Given the description of an element on the screen output the (x, y) to click on. 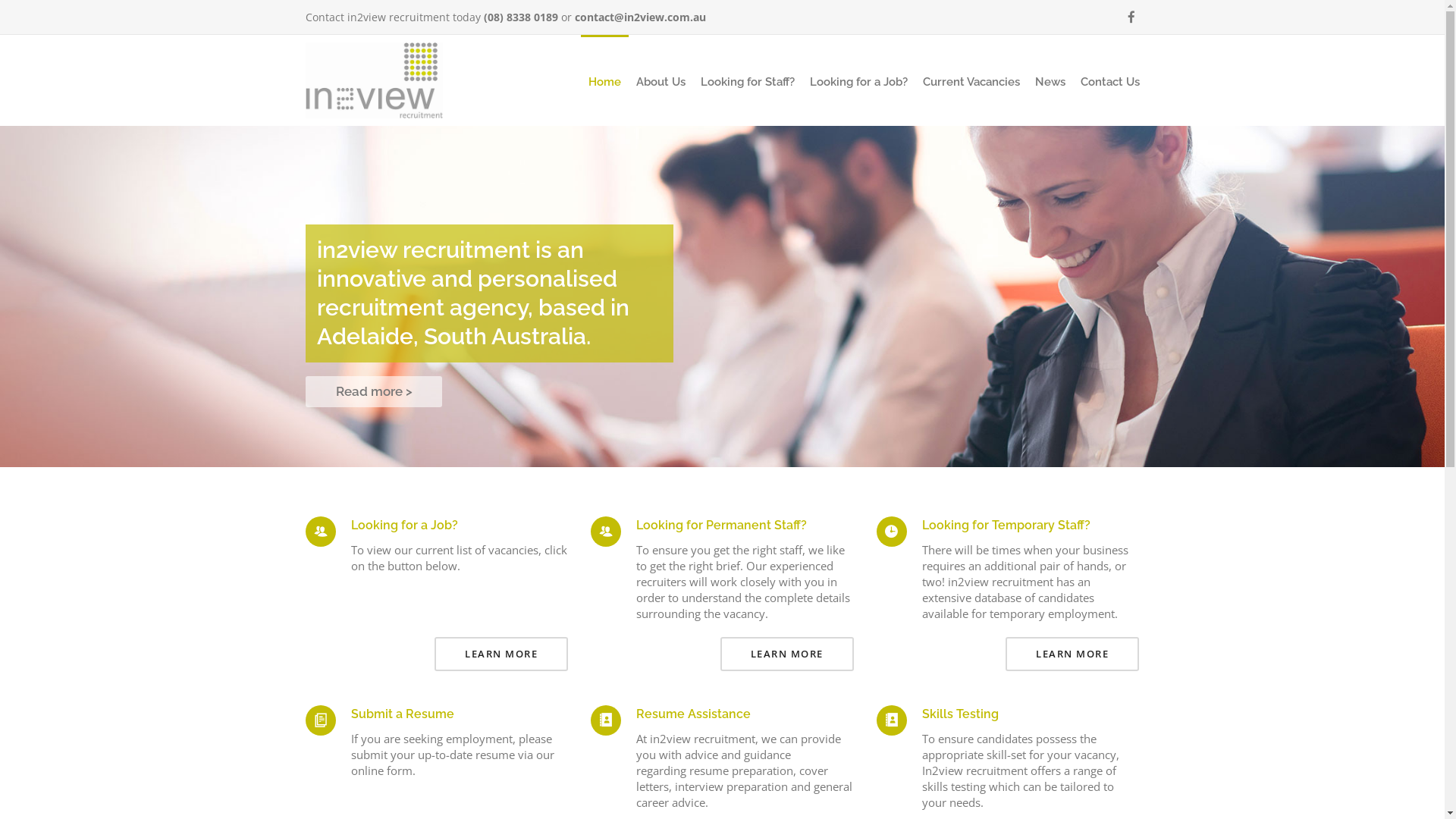
About Us Element type: text (659, 81)
Resume Assistance Element type: text (693, 713)
LEARN MORE Element type: text (786, 654)
Current Vacancies Element type: text (970, 81)
News Element type: text (1049, 81)
Looking for Permanent Staff? Element type: text (721, 524)
Contact Us Element type: text (1109, 81)
LEARN MORE Element type: text (1072, 654)
Looking for Staff? Element type: text (747, 81)
Looking for Temporary Staff? Element type: text (1006, 524)
Looking for a Job? Element type: text (403, 524)
(08) 8338 0189 Element type: text (520, 16)
contact@in2view.com.au Element type: text (640, 16)
Skills Testing Element type: text (960, 713)
LEARN MORE Element type: text (500, 654)
Looking for a Job? Element type: text (858, 81)
Submit a Resume Element type: text (401, 713)
Home Element type: text (604, 81)
